Given the description of an element on the screen output the (x, y) to click on. 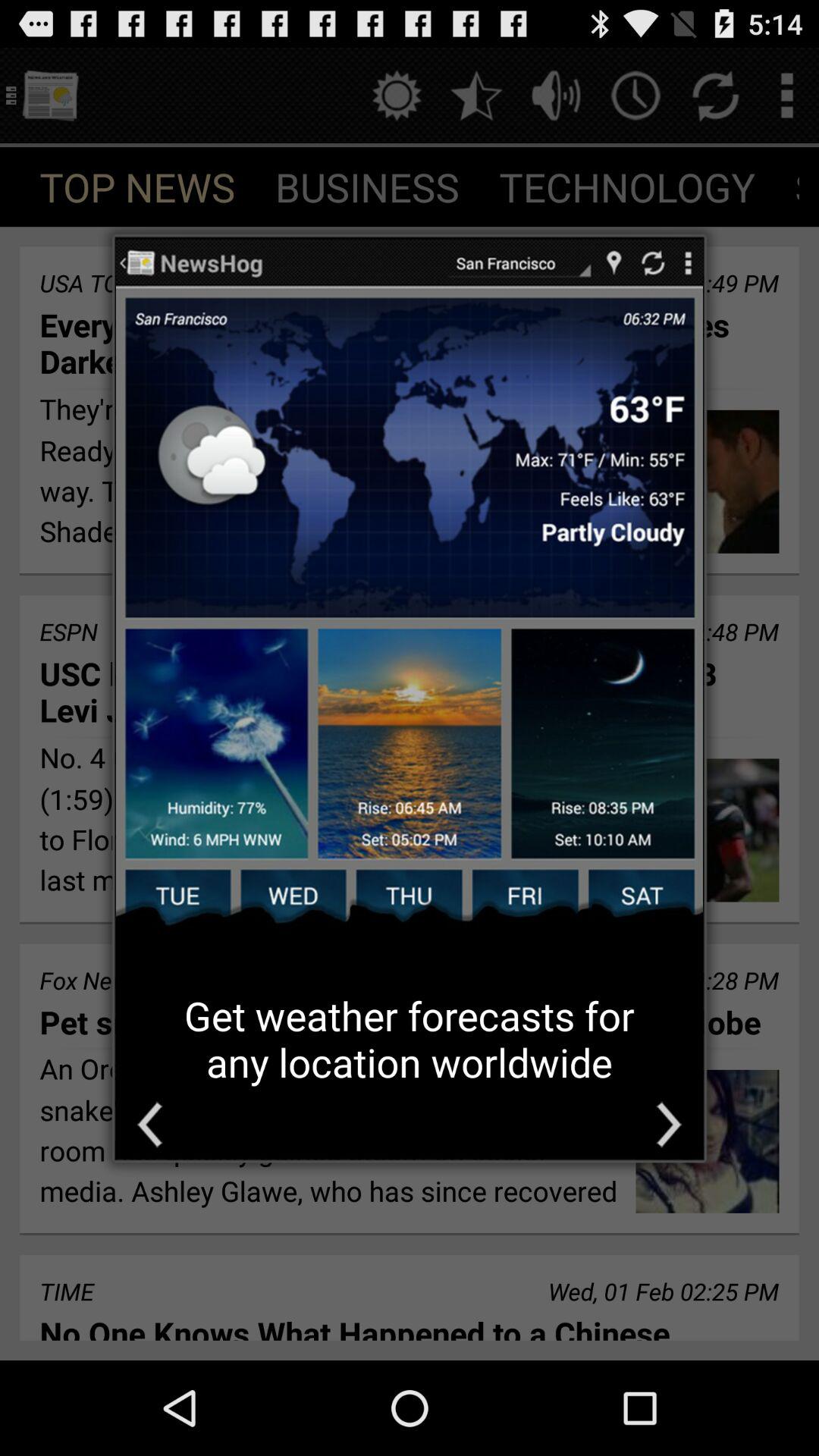
turn on the icon at the bottom right corner (668, 1124)
